Given the description of an element on the screen output the (x, y) to click on. 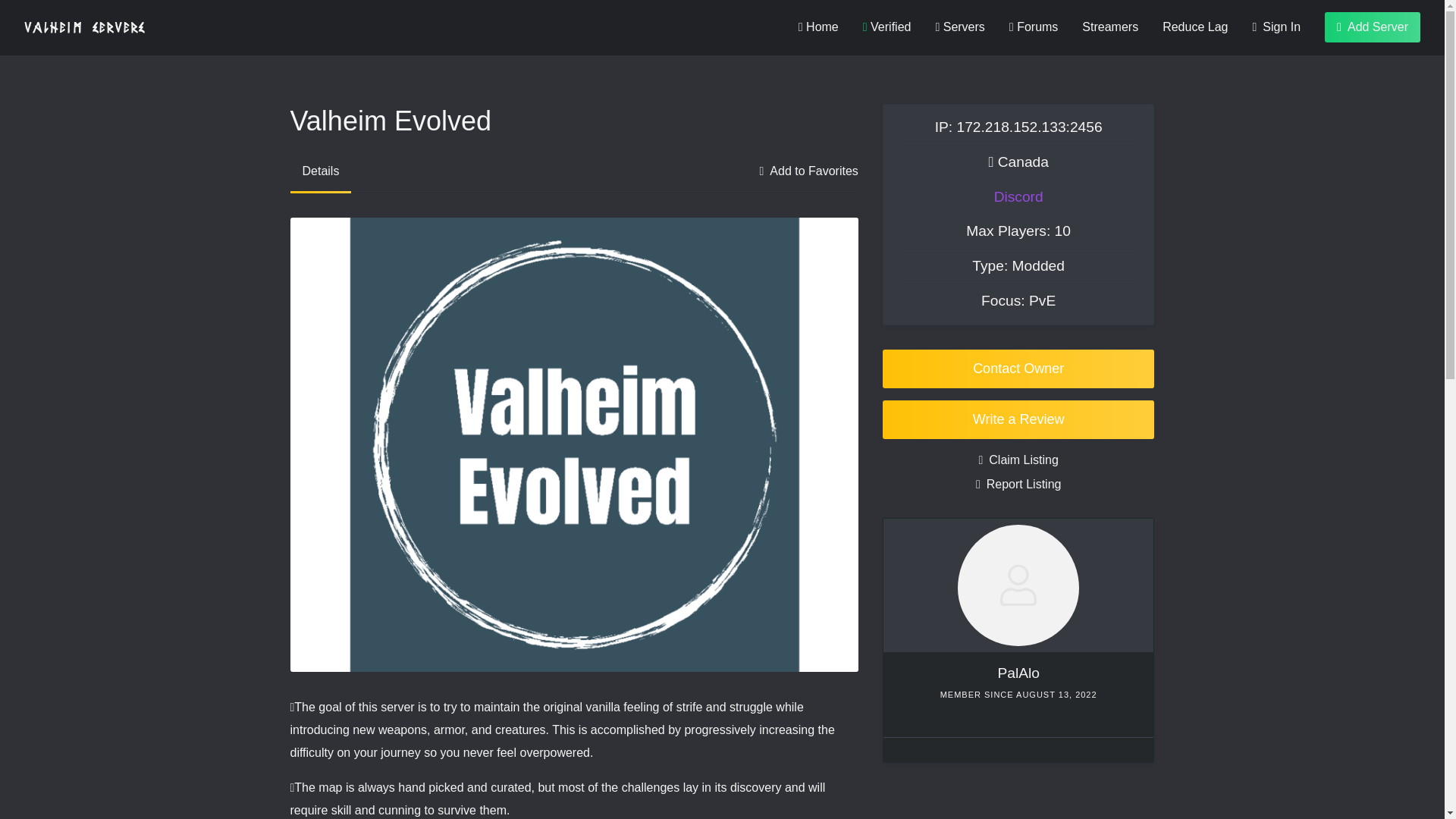
Write a Review (1018, 419)
Forums (1033, 27)
Report Listing (1018, 484)
Claim Listing (1018, 460)
PalAlo (1018, 672)
Details (320, 171)
Sign In (1276, 27)
Verified (887, 27)
Servers (959, 27)
Streamers (1109, 27)
Home (817, 27)
Discord (1018, 196)
Contact Owner (1018, 368)
Reduce Lag (1194, 27)
Add to Favorites (807, 171)
